Given the description of an element on the screen output the (x, y) to click on. 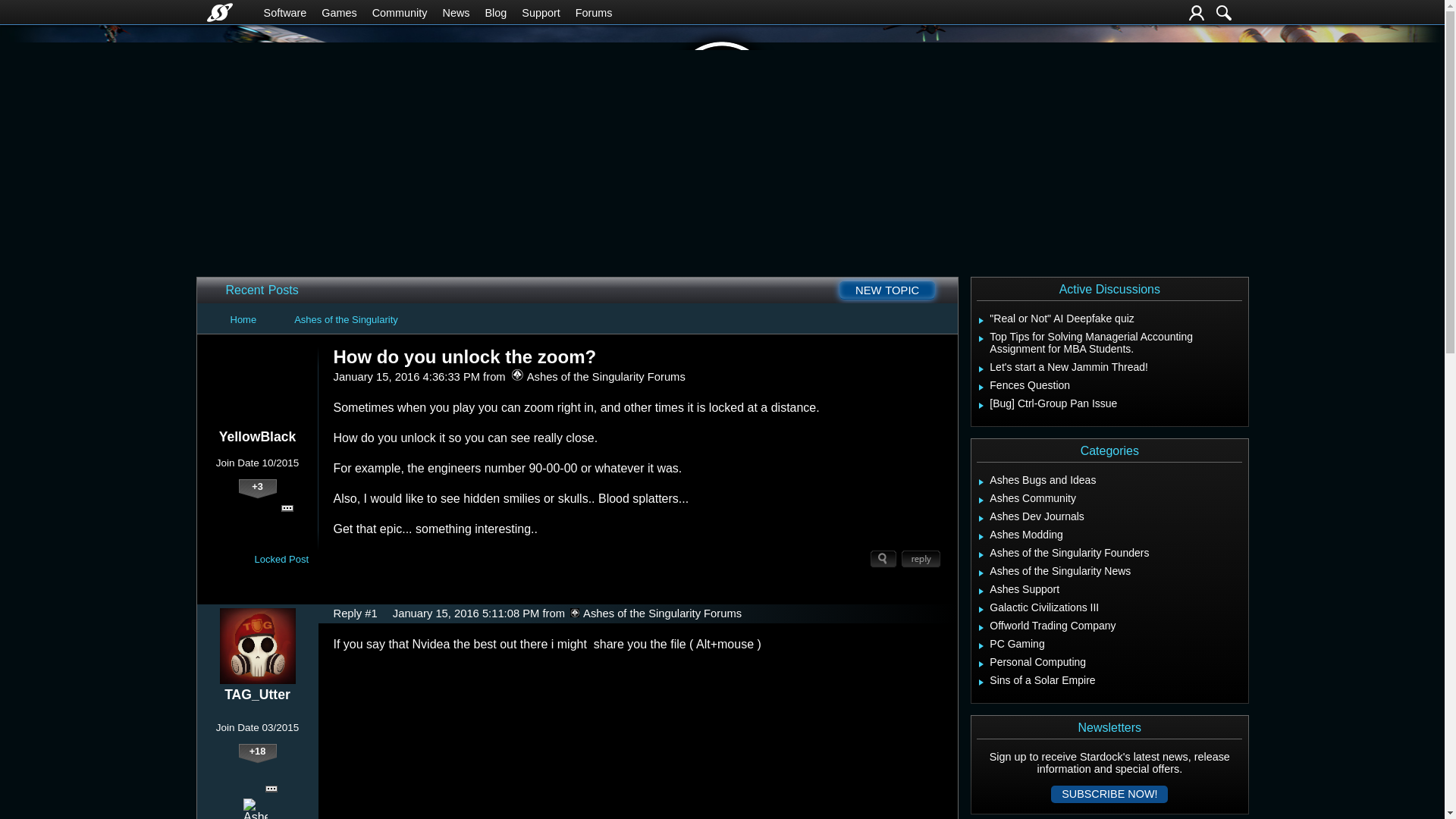
View YellowBlack's Karma (257, 488)
Search Forums (1223, 11)
Login or Create Account (1196, 11)
Click user name to view more options. (256, 694)
Active Commenter - Replied over 100 times (255, 508)
Search this post (883, 559)
View all awards (287, 508)
Novice Poster - Created 5 Posts (271, 508)
Reply to this post (920, 559)
